Given the description of an element on the screen output the (x, y) to click on. 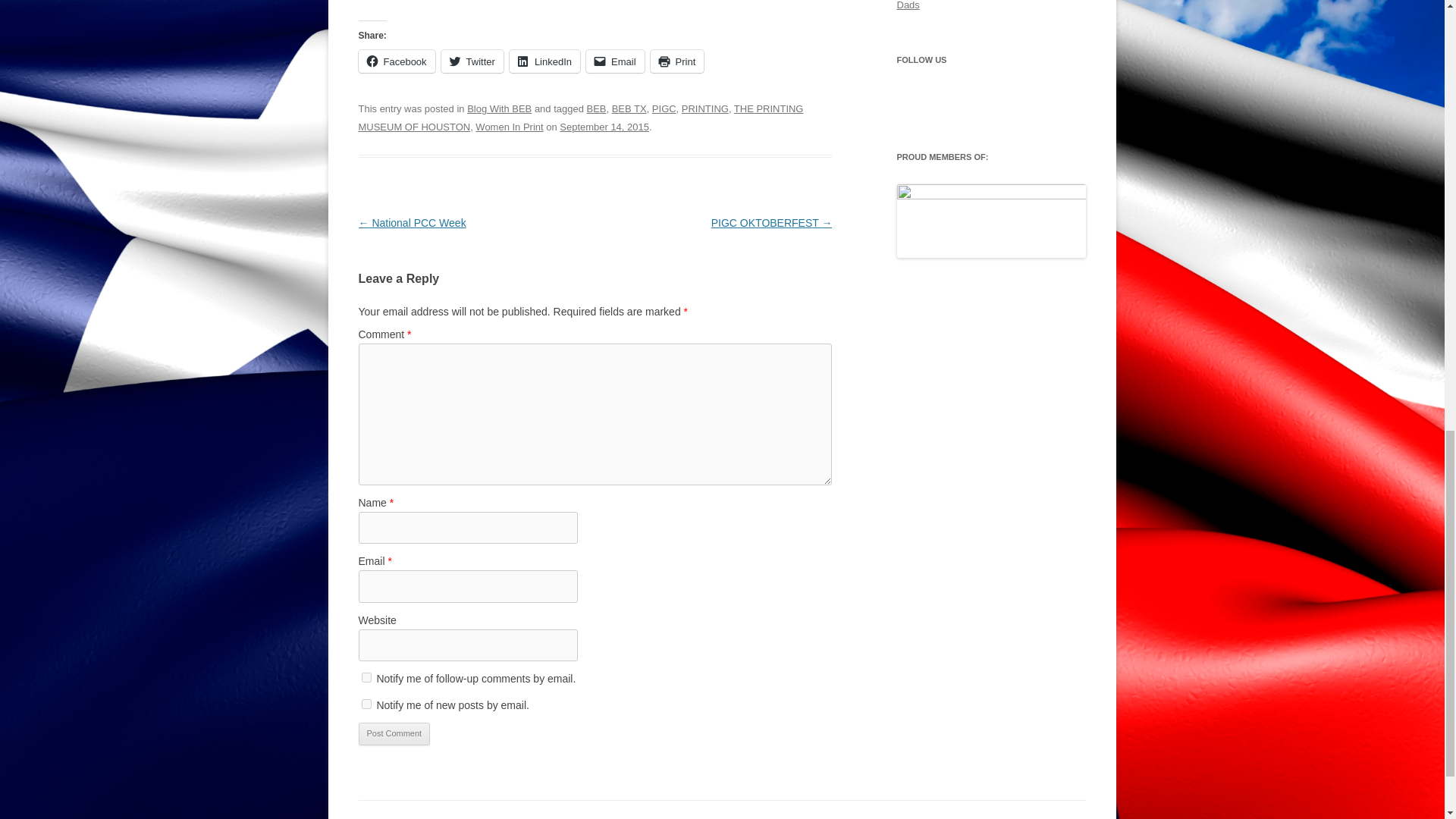
Click to print (677, 60)
Click to share on LinkedIn (544, 60)
Blog With BEB (499, 108)
Click to share on Facebook (395, 60)
Click to share on Twitter (472, 60)
subscribe (366, 677)
Click to email a link to a friend (615, 60)
subscribe (366, 704)
Post Comment (393, 733)
BEB (595, 108)
BEB TX (628, 108)
Facebook (395, 60)
4:38 pm (604, 126)
Email (615, 60)
LinkedIn (544, 60)
